Given the description of an element on the screen output the (x, y) to click on. 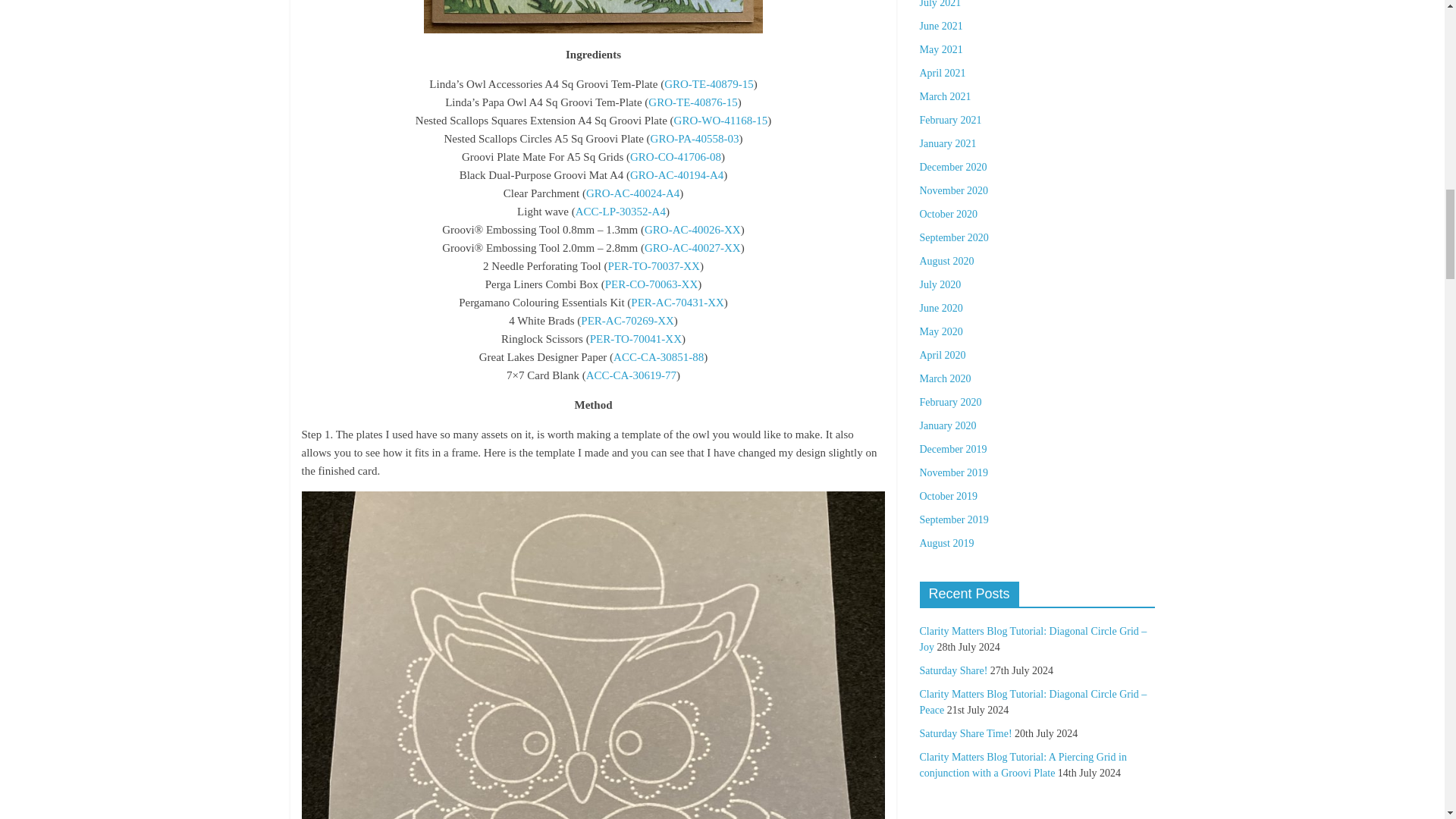
PER-AC-70431-XX (676, 302)
GRO-AC-40026-XX (693, 229)
GRO-CO-41706-08 (675, 156)
GRO-WO-41168-15 (721, 120)
GRO-TE-40876-15 (691, 102)
GRO-AC-40027-XX (693, 247)
PER-AC-70269-XX (627, 320)
GRO-AC-40194-A4 (676, 174)
GRO-TE-40879-15 (707, 83)
ACC-LP-30352-A4 (620, 211)
GRO-AC-40024-A4 (632, 193)
PER-CO-70063-XX (651, 284)
PER-TO-70041-XX (635, 338)
PER-TO-70037-XX (654, 265)
GRO-PA-40558-03 (694, 138)
